Given the description of an element on the screen output the (x, y) to click on. 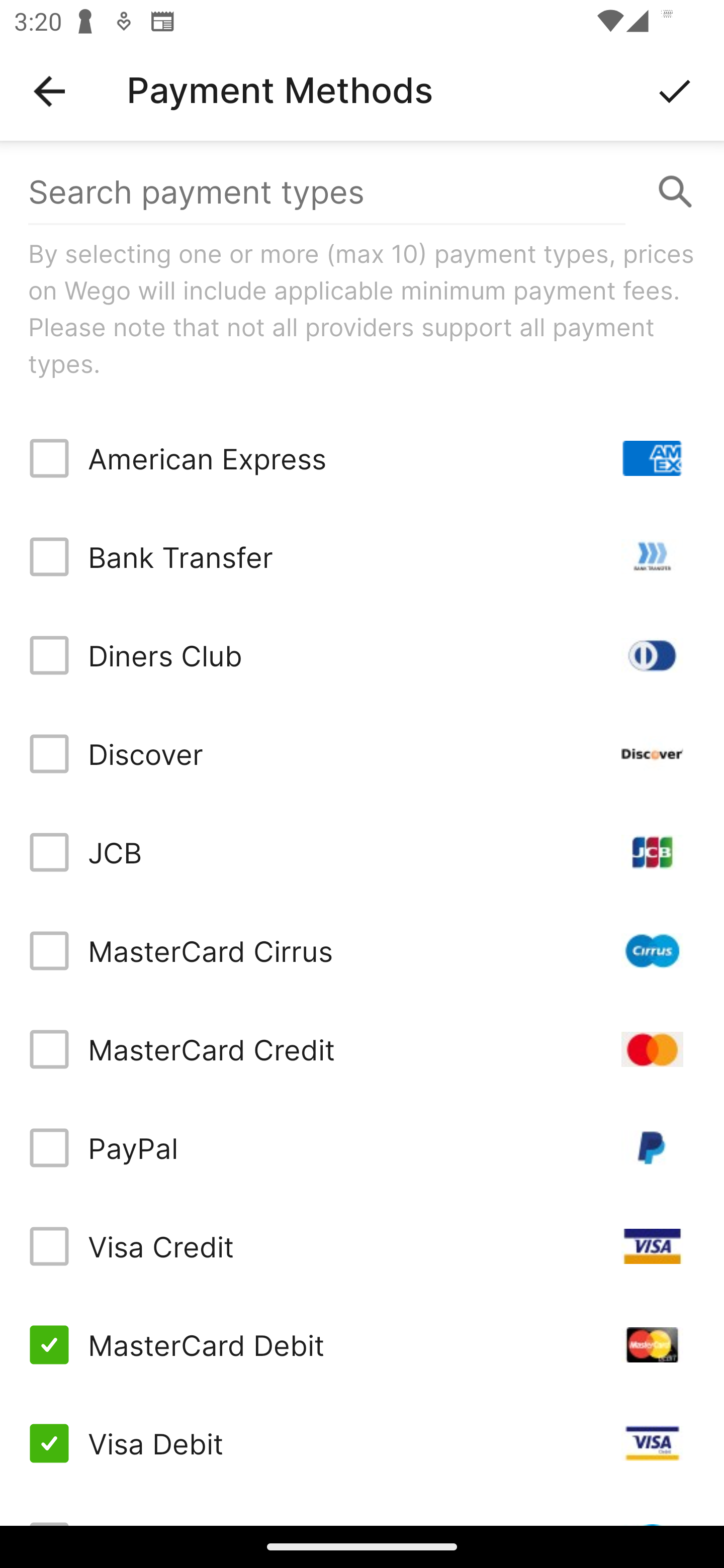
Search payment types  (361, 191)
American Express (362, 458)
Bank Transfer (362, 557)
Diners Club (362, 655)
Discover (362, 753)
JCB (362, 851)
MasterCard Cirrus (362, 950)
MasterCard Credit (362, 1049)
PayPal (362, 1147)
Visa Credit (362, 1245)
MasterCard Debit (362, 1344)
Visa Debit (362, 1442)
